Given the description of an element on the screen output the (x, y) to click on. 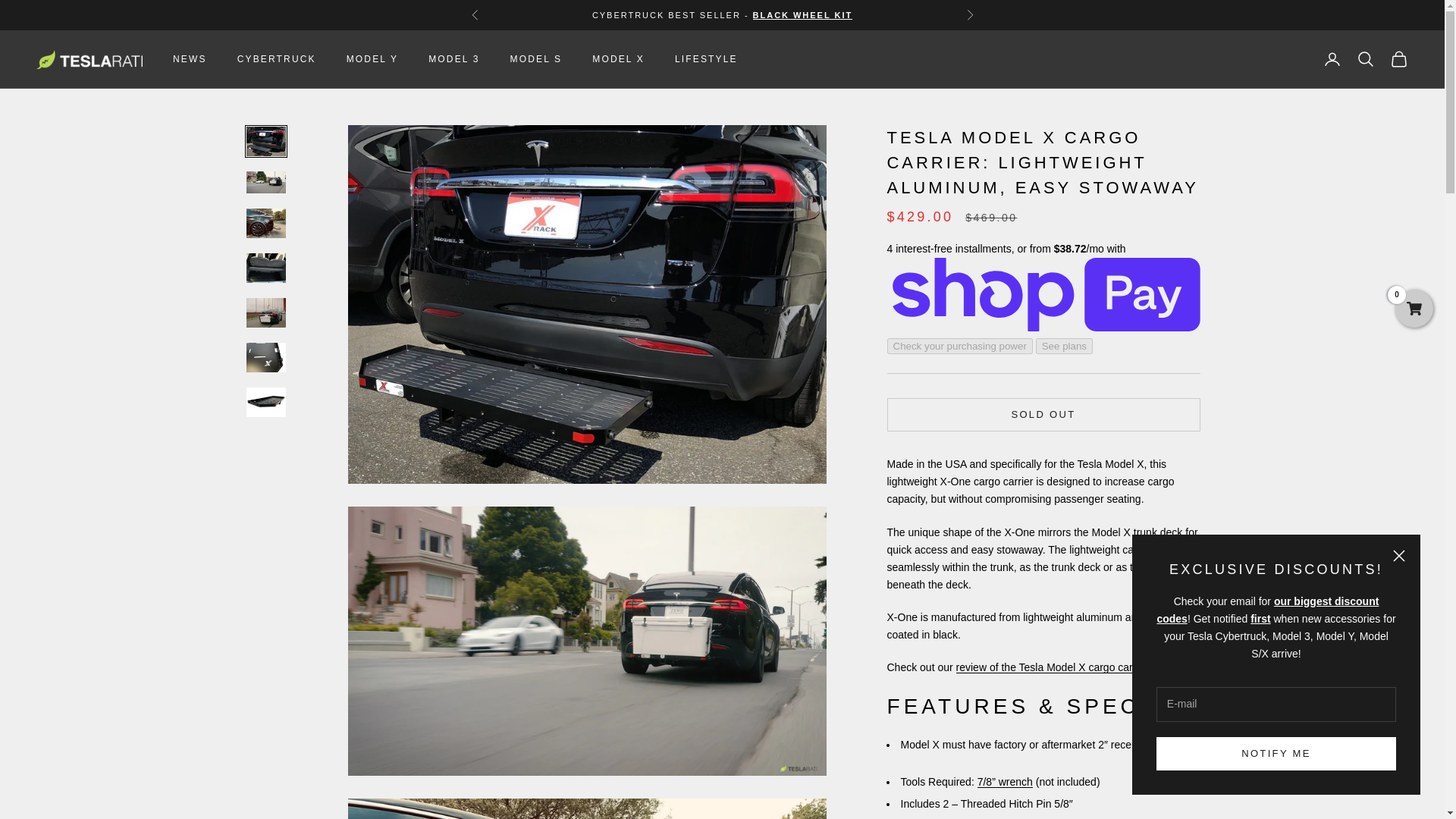
Previous (474, 15)
TESLARATI Marketplace (89, 59)
Next (968, 15)
BLACK WHEEL KIT (802, 14)
Newsletter popup (1276, 664)
Tesla Model X cargo carrier (1052, 666)
NEWS (189, 58)
